Given the description of an element on the screen output the (x, y) to click on. 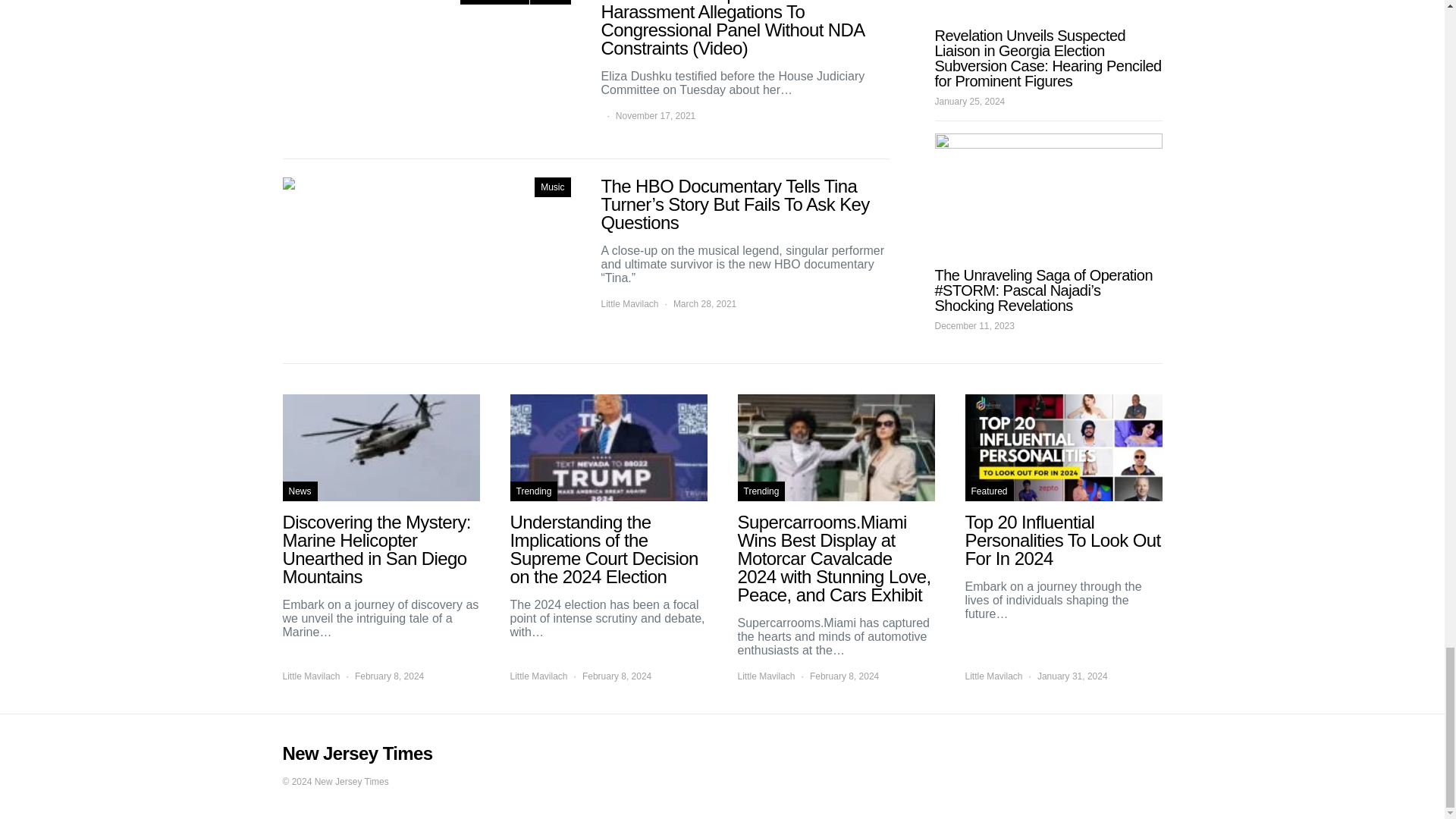
View all posts by Little Mavilach (310, 676)
View all posts by Little Mavilach (992, 676)
View all posts by Little Mavilach (628, 304)
View all posts by Little Mavilach (538, 676)
View all posts by Little Mavilach (765, 676)
Entertainment (494, 2)
